Given the description of an element on the screen output the (x, y) to click on. 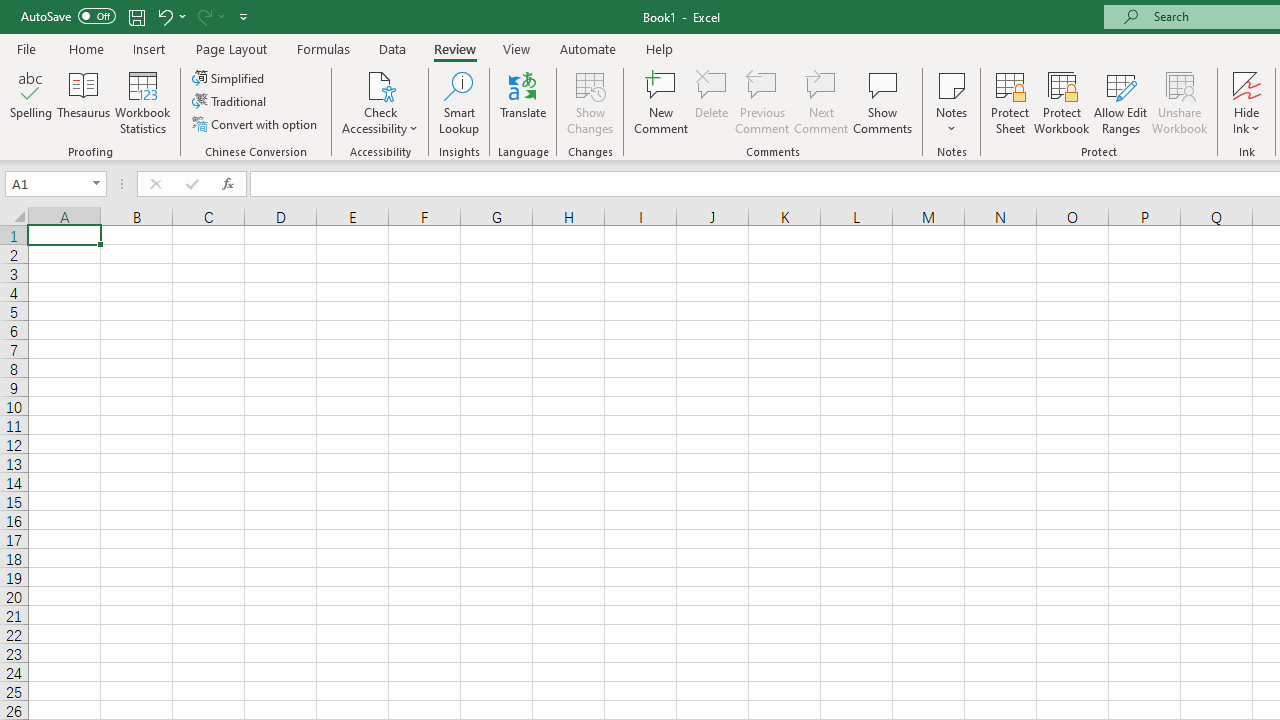
Smart Lookup (459, 102)
Allow Edit Ranges (1120, 102)
Delete (712, 102)
Previous Comment (762, 102)
Convert with option (256, 124)
Unshare Workbook (1179, 102)
Protect Sheet... (1010, 102)
